Given the description of an element on the screen output the (x, y) to click on. 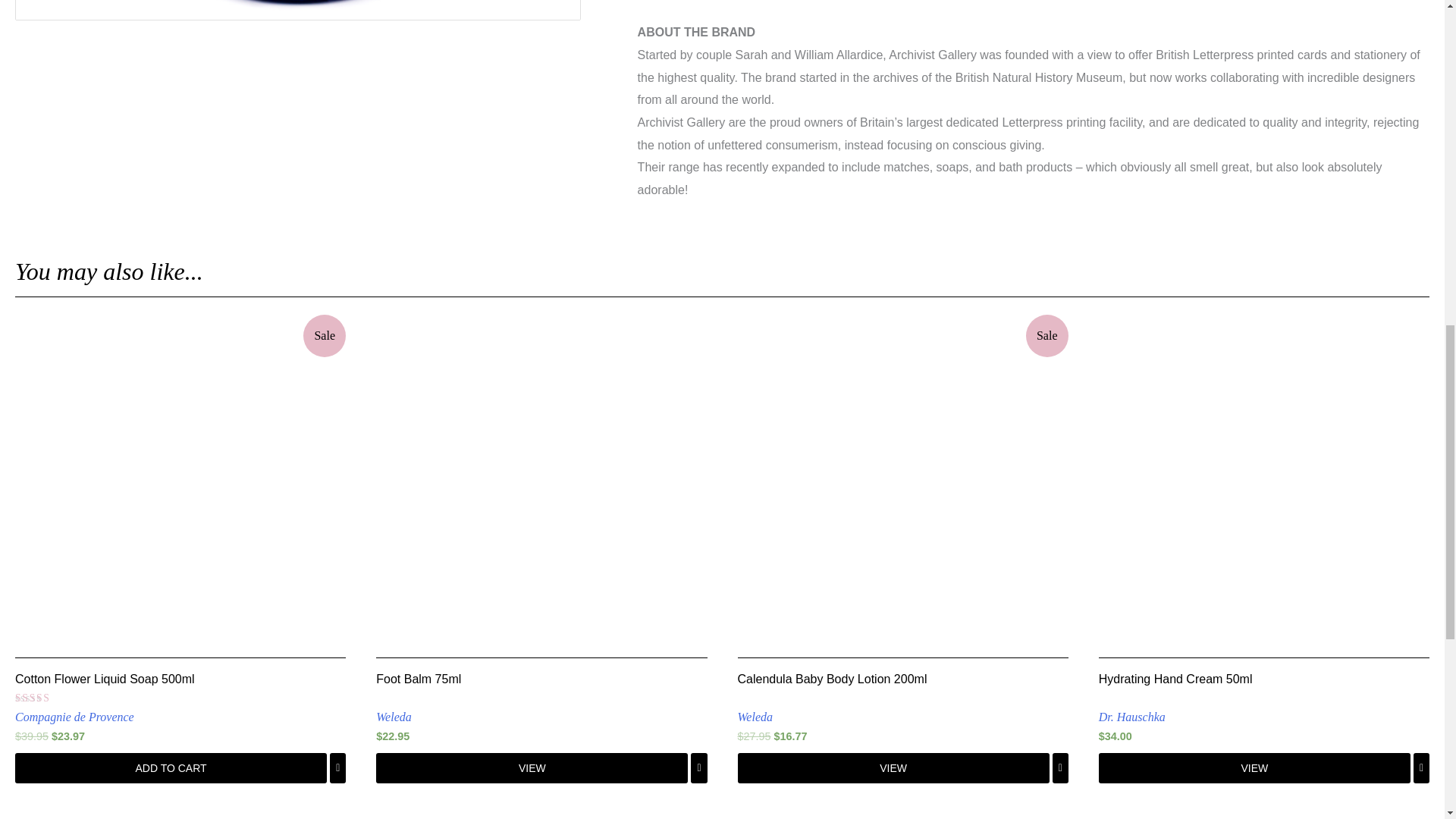
archivist-gallery-superior-bath-salts-mediterranean-300g.png (297, 9)
